Given the description of an element on the screen output the (x, y) to click on. 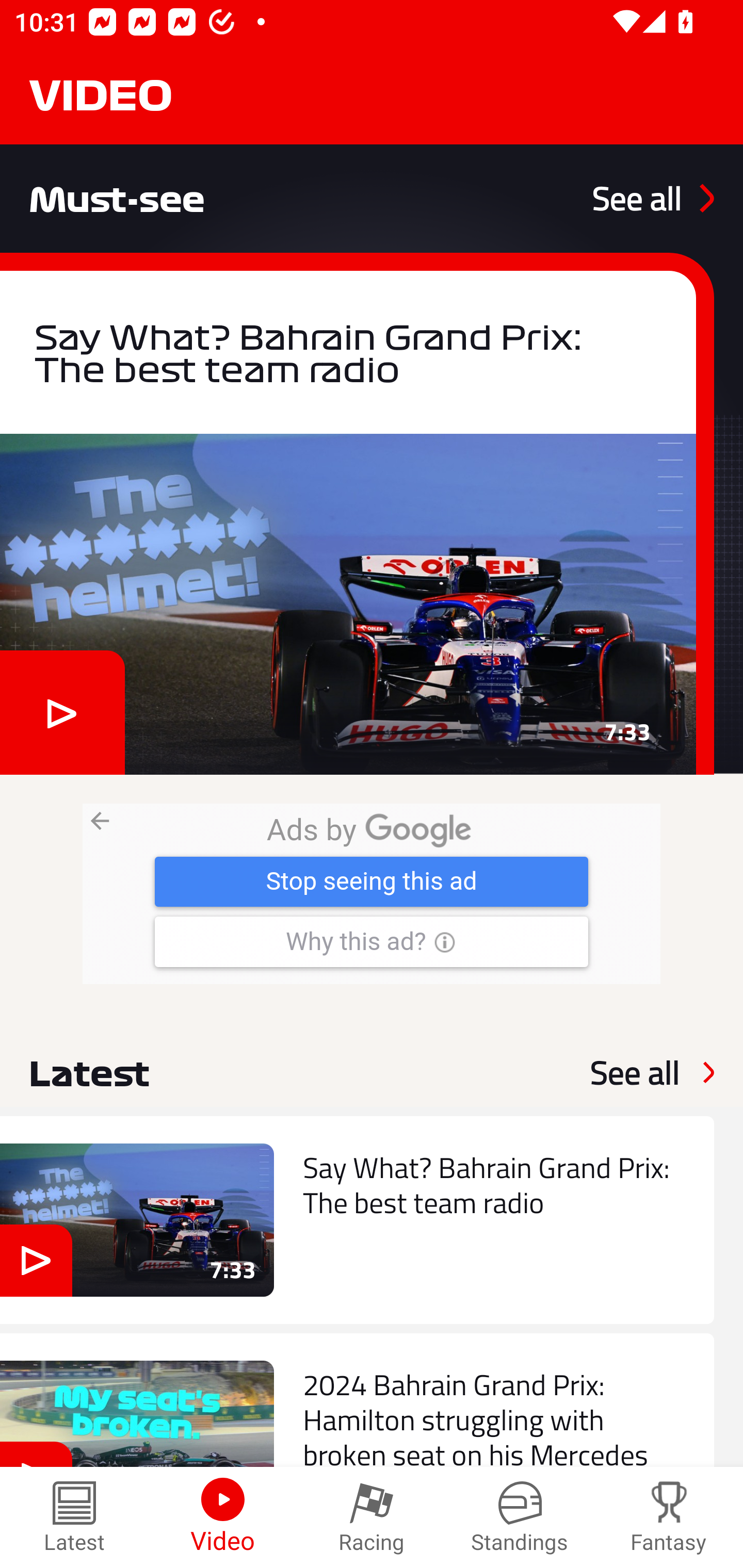
See all (653, 198)
See all (634, 1072)
Latest (74, 1517)
Racing (371, 1517)
Standings (519, 1517)
Fantasy (668, 1517)
